Given the description of an element on the screen output the (x, y) to click on. 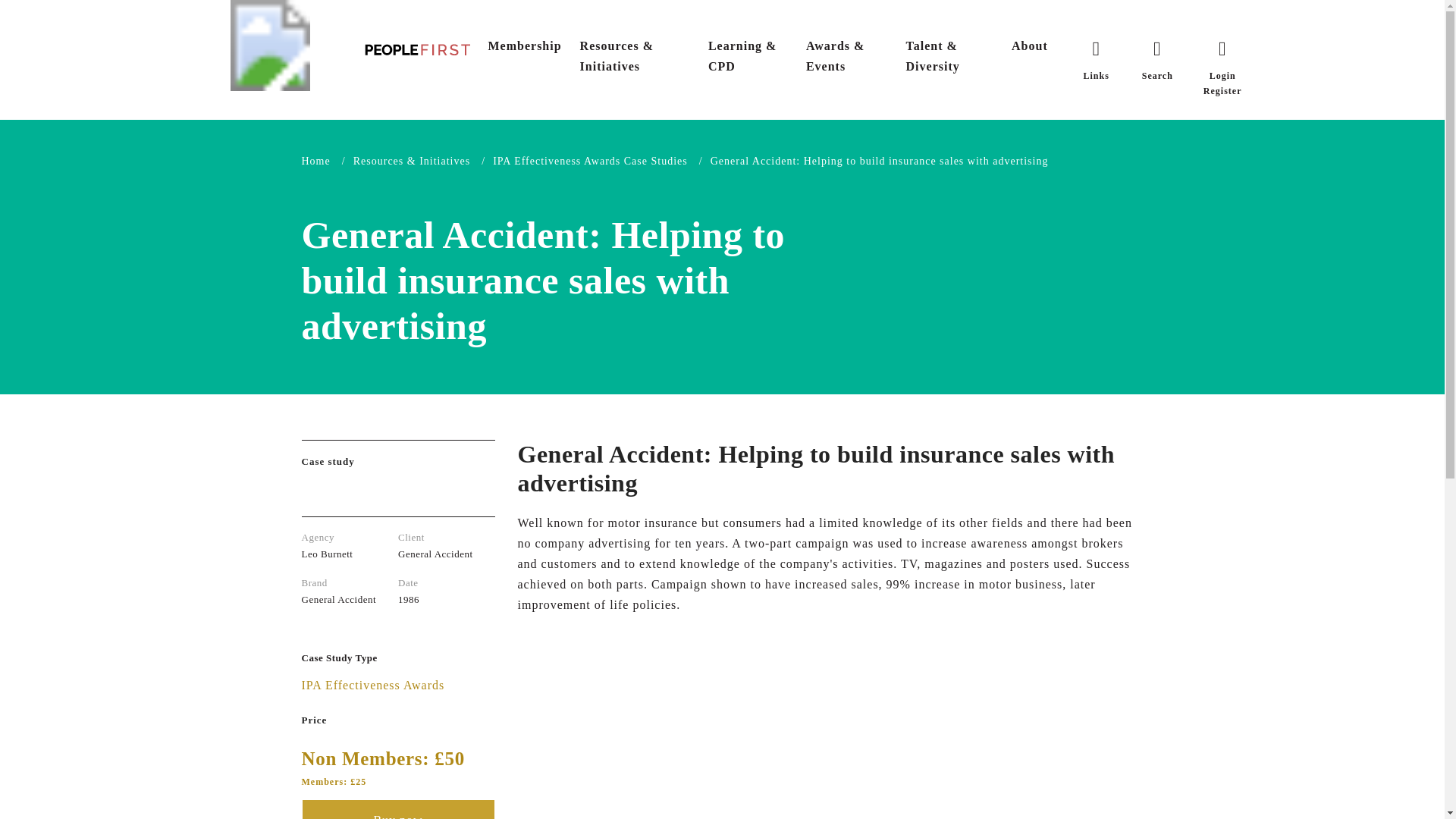
IPA Incorporated by Royal Charter (269, 45)
IPA Incorporated by Royal Charter (269, 43)
Buy now (398, 809)
